Given the description of an element on the screen output the (x, y) to click on. 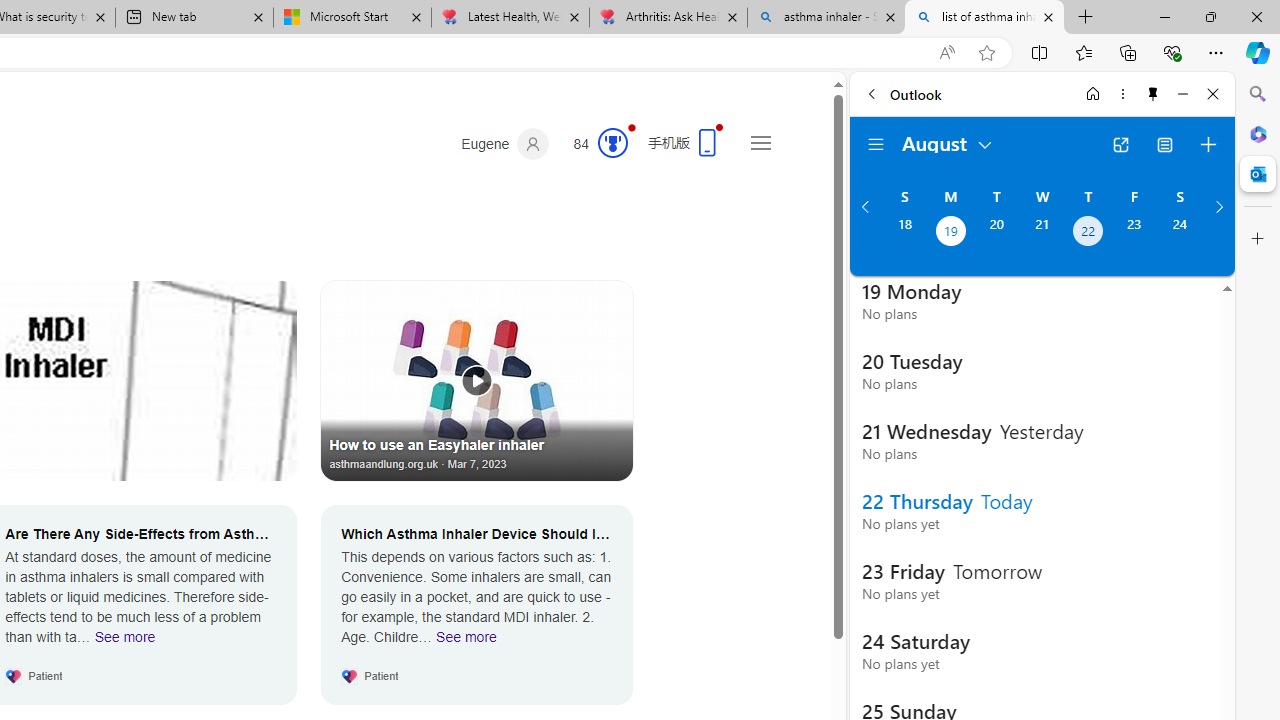
Monday, August 19, 2024. Date selected.  (950, 233)
Open in new tab (1120, 144)
Wednesday, August 21, 2024.  (1042, 233)
asthma inhaler - Search (825, 17)
